Given the description of an element on the screen output the (x, y) to click on. 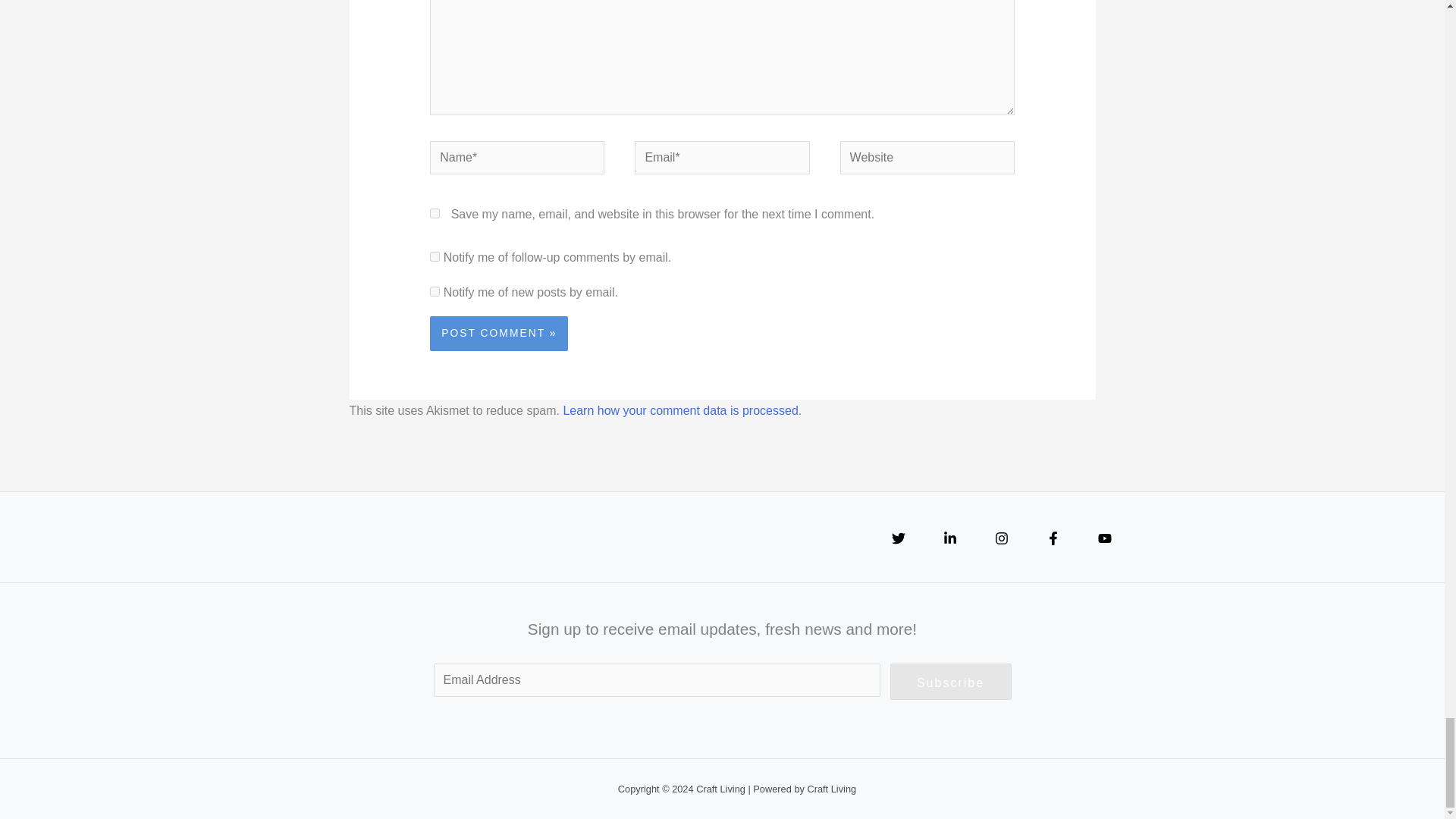
subscribe (434, 256)
subscribe (434, 291)
Learn how your comment data is processed (679, 410)
yes (434, 213)
